Given the description of an element on the screen output the (x, y) to click on. 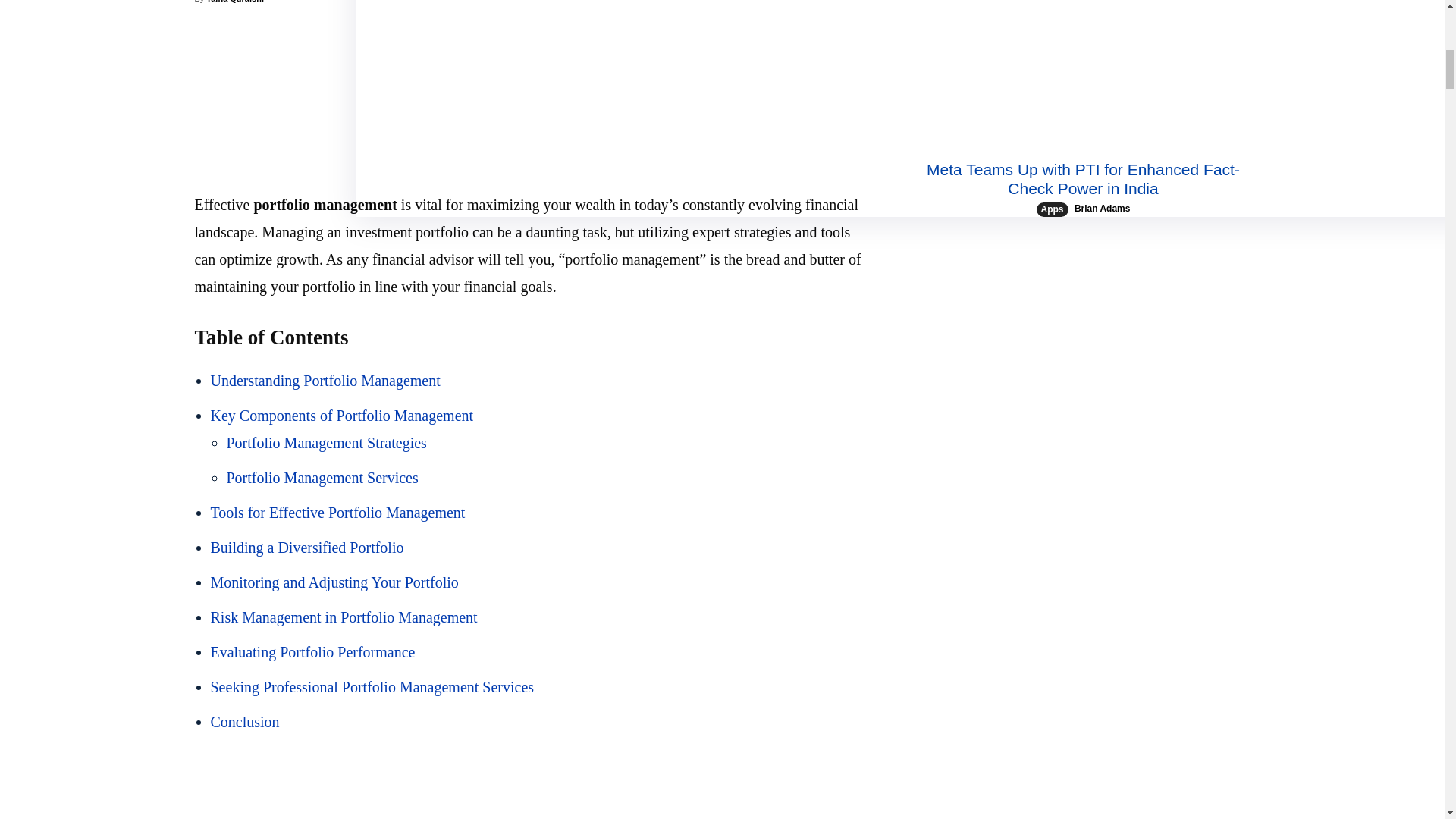
Key Components of Portfolio Management (342, 415)
Seeking Professional Portfolio Management Services (372, 686)
Conclusion (245, 721)
Evaluating Portfolio Performance (312, 651)
Building a Diversified Portfolio (307, 547)
Portfolio Management Strategies (325, 442)
Portfolio Management Services (321, 477)
Understanding Portfolio Management (326, 380)
Risk Management in Portfolio Management (344, 617)
Advertisement (530, 109)
